Given the description of an element on the screen output the (x, y) to click on. 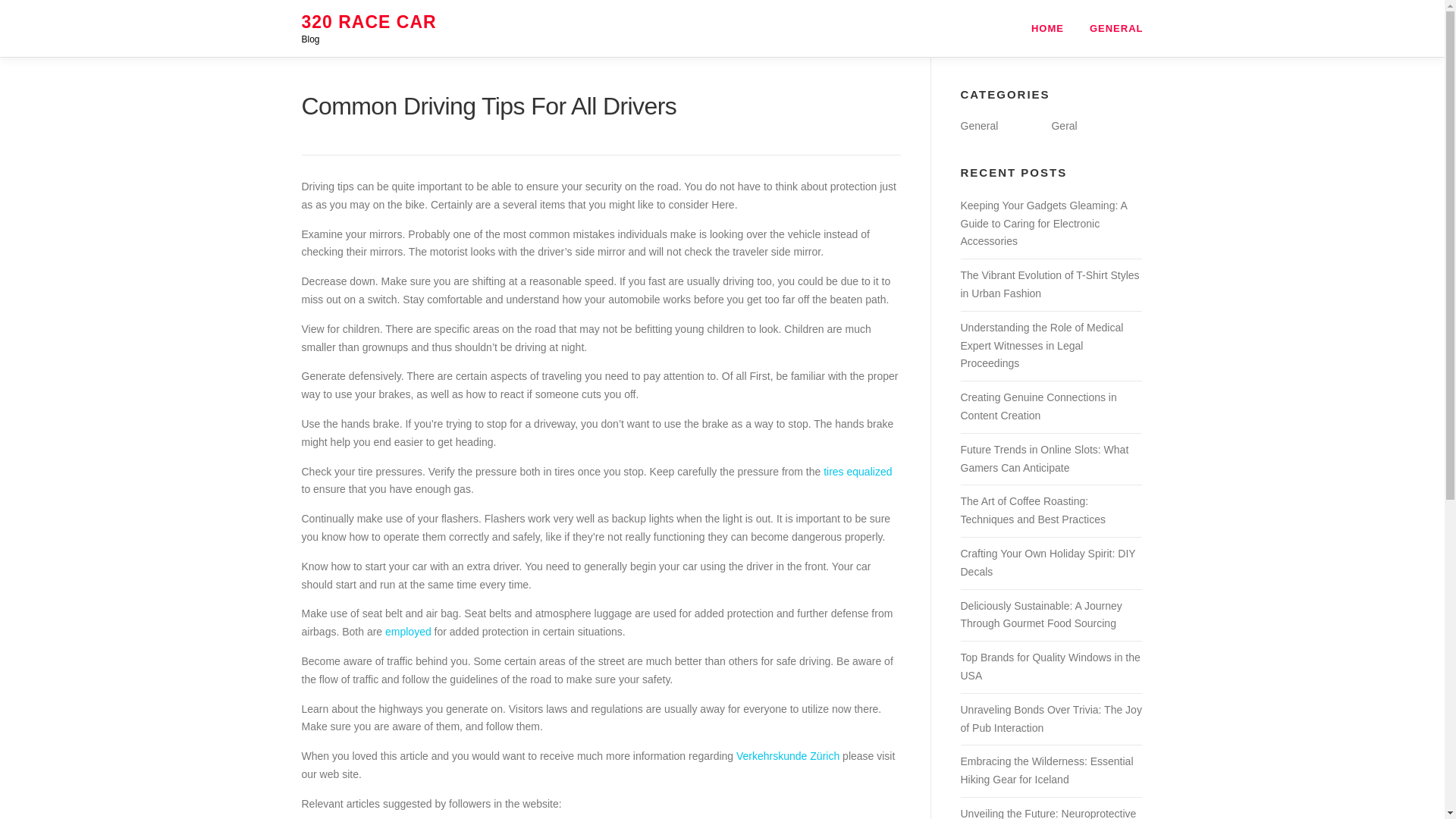
HOME (1047, 28)
Unraveling Bonds Over Trivia: The Joy of Pub Interaction (1050, 718)
Future Trends in Online Slots: What Gamers Can Anticipate (1043, 458)
GENERAL (1109, 28)
Top Brands for Quality Windows in the USA (1049, 666)
Creating Genuine Connections in Content Creation (1037, 406)
tires equalized (857, 471)
The Art of Coffee Roasting: Techniques and Best Practices (1032, 510)
